Given the description of an element on the screen output the (x, y) to click on. 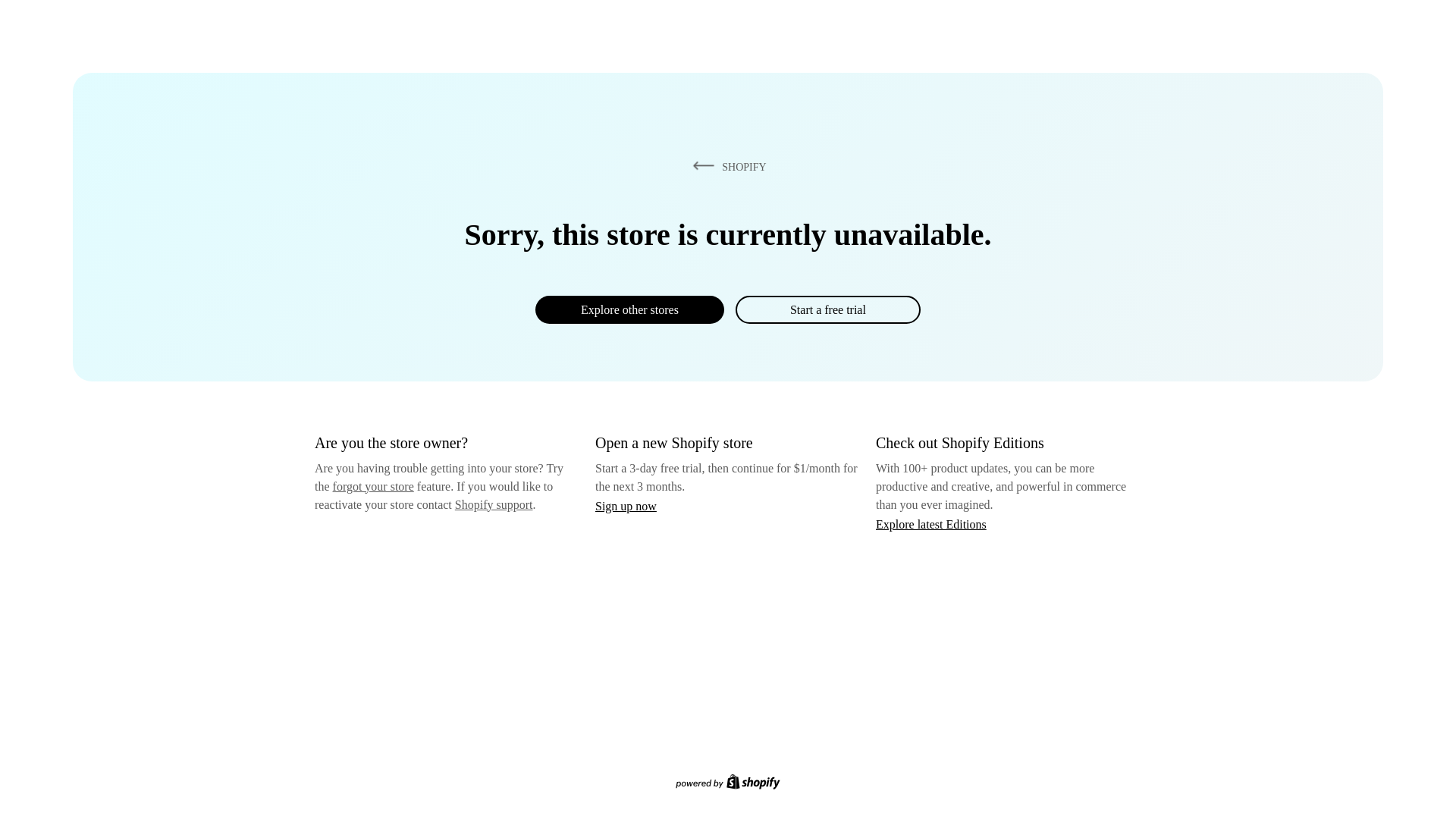
SHOPIFY (726, 166)
Explore latest Editions (931, 523)
forgot your store (373, 486)
Explore other stores (629, 309)
Shopify support (493, 504)
Sign up now (625, 505)
Start a free trial (827, 309)
